Given the description of an element on the screen output the (x, y) to click on. 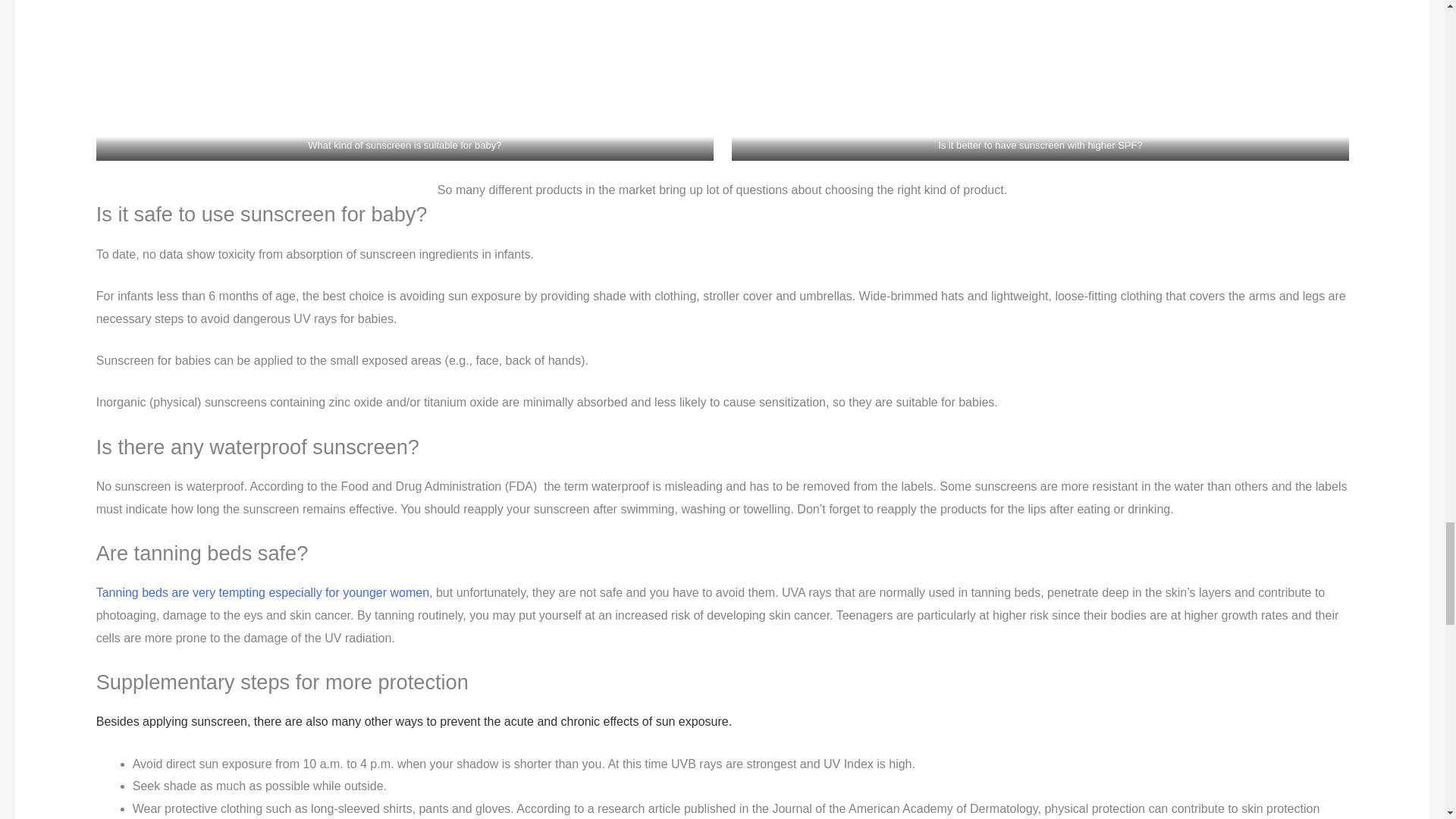
Tanning beds are very tempting especially for younger women (262, 592)
